Given the description of an element on the screen output the (x, y) to click on. 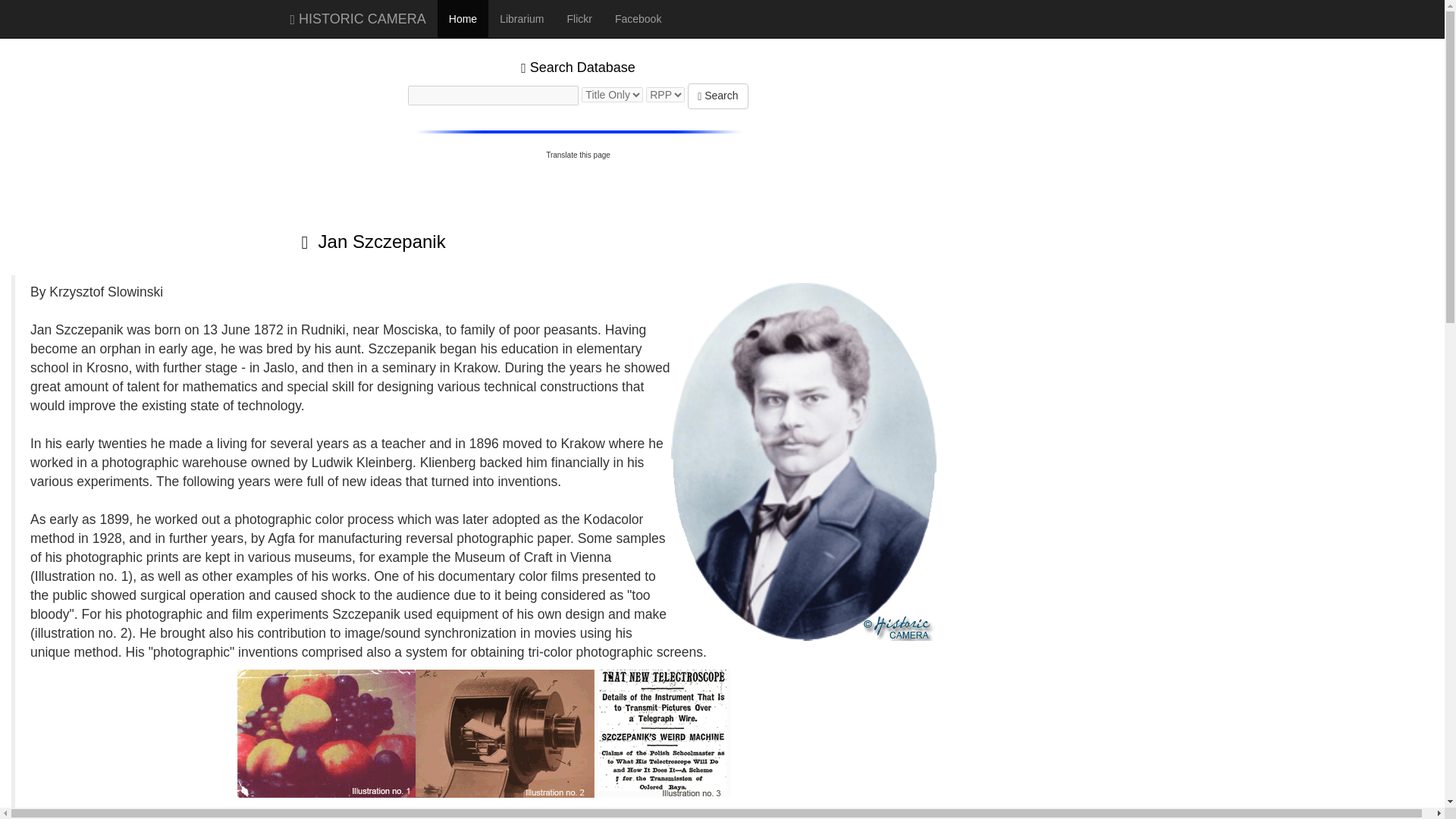
Librarium (520, 18)
Facebook (638, 18)
Search (717, 95)
Home (462, 18)
Flickr (578, 18)
HISTORIC CAMERA (358, 18)
Advertisement (991, 128)
